Given the description of an element on the screen output the (x, y) to click on. 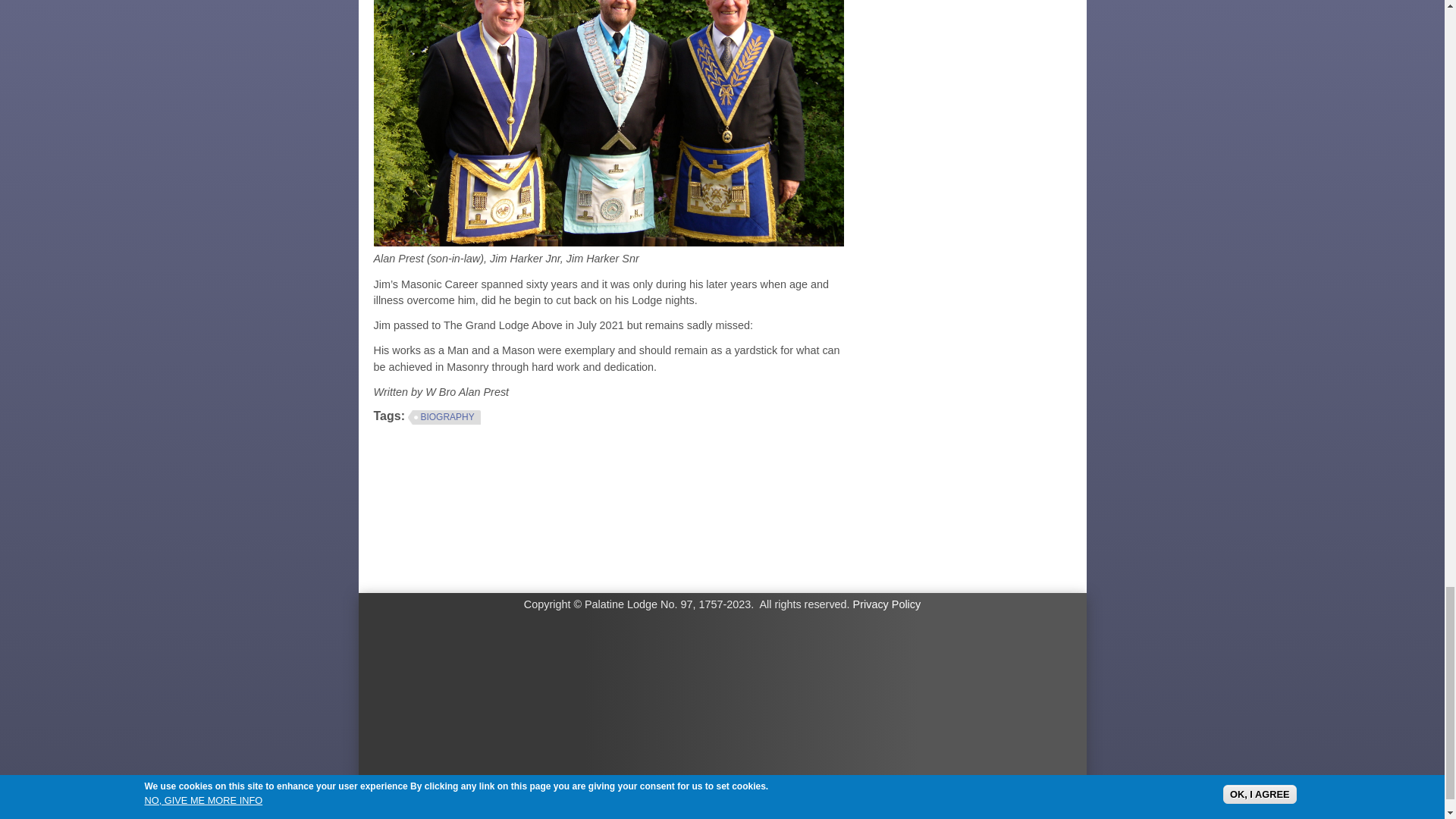
BIOGRAPHY (443, 419)
privacy (887, 604)
Privacy Policy (887, 604)
